Given the description of an element on the screen output the (x, y) to click on. 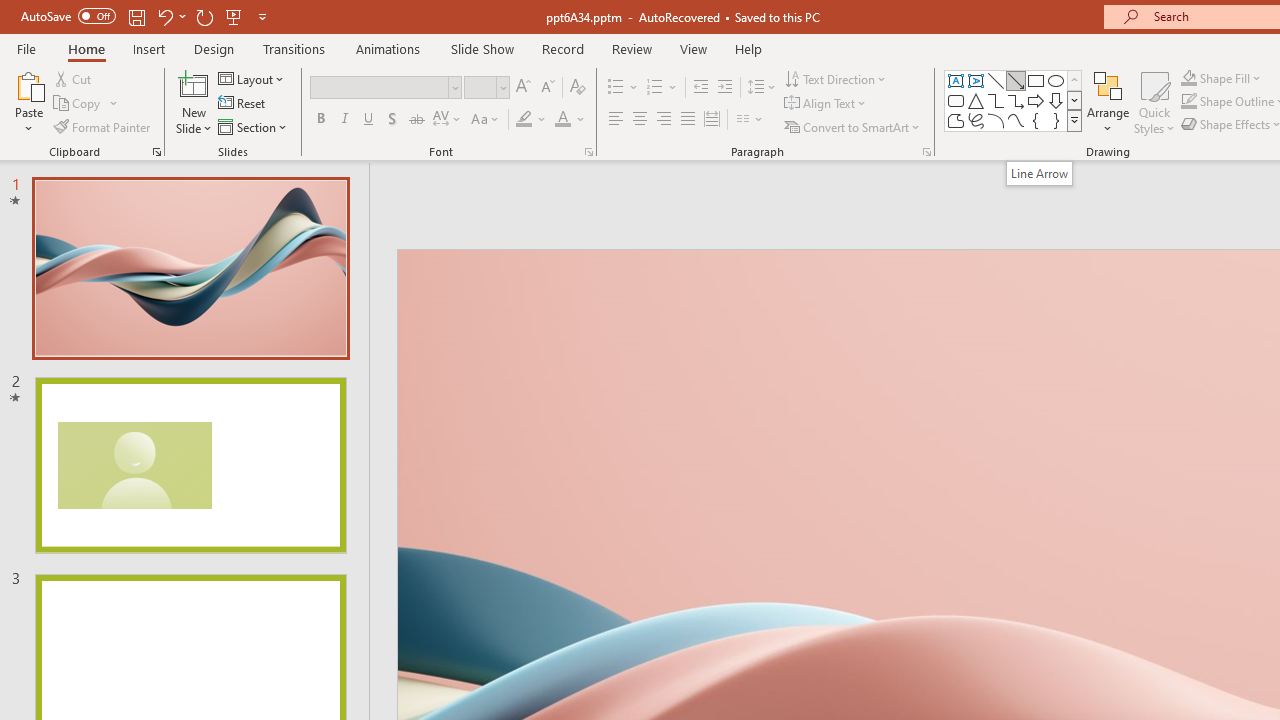
Font Size (486, 87)
Slide (190, 465)
Font Color (569, 119)
Rectangle (1035, 80)
Clear Formatting (577, 87)
Curve (1016, 120)
Row up (1074, 79)
Reset (243, 103)
Left Brace (1035, 120)
Decrease Font Size (547, 87)
